Given the description of an element on the screen output the (x, y) to click on. 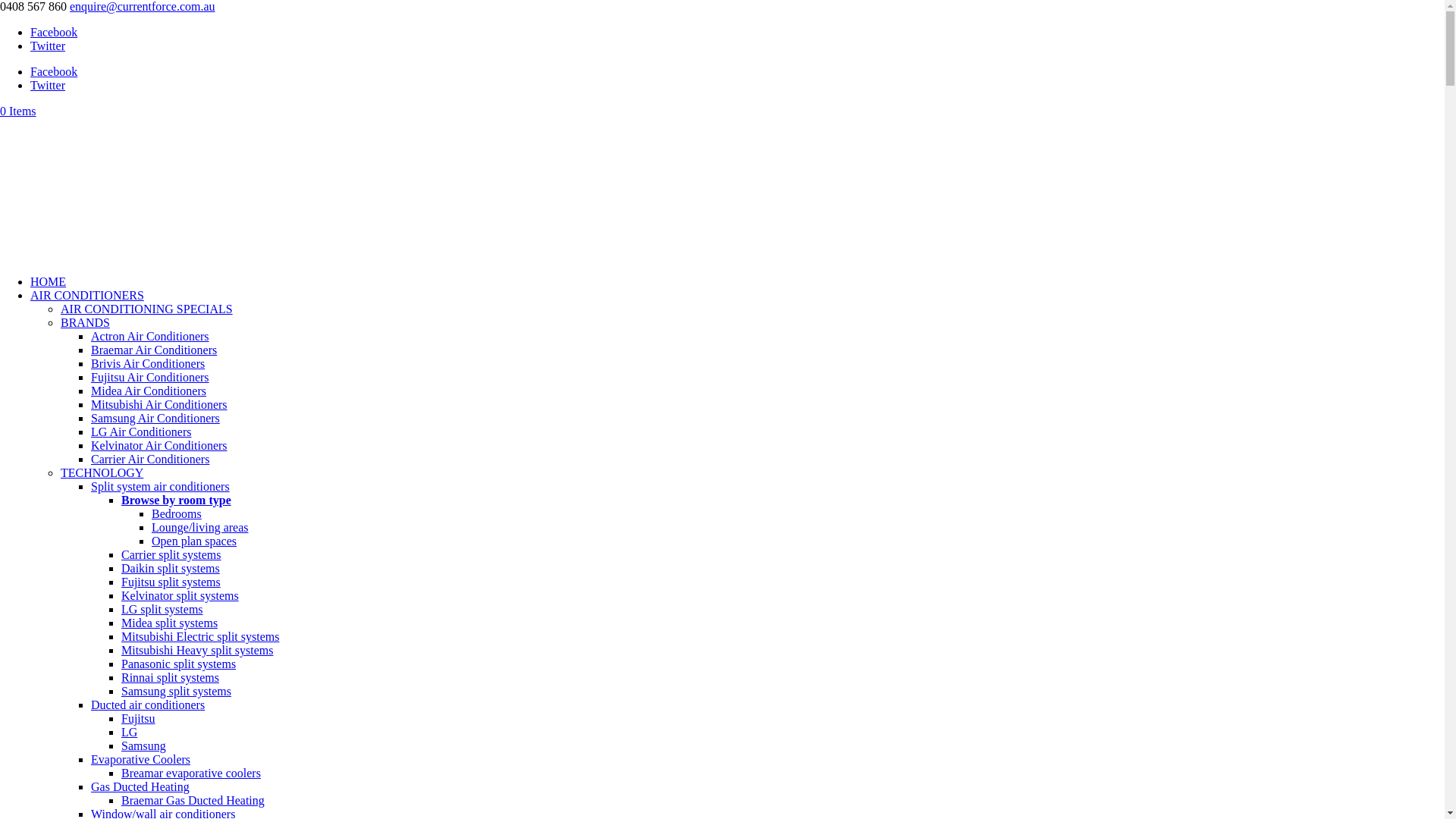
Browse by room type Element type: text (176, 499)
LG Air Conditioners Element type: text (141, 431)
Twitter Element type: text (47, 45)
Braemar Gas Ducted Heating Element type: text (192, 799)
Braemar Air Conditioners Element type: text (153, 349)
Samsung Element type: text (143, 745)
Bedrooms Element type: text (176, 513)
HOME Element type: text (47, 281)
Brivis Air Conditioners Element type: text (147, 363)
Gas Ducted Heating Element type: text (140, 786)
Split system air conditioners Element type: text (160, 486)
Facebook Element type: text (53, 71)
Fujitsu split systems Element type: text (170, 581)
Evaporative Coolers Element type: text (140, 759)
Carrier split systems Element type: text (171, 554)
AIR CONDITIONERS Element type: text (87, 294)
Panasonic split systems Element type: text (178, 663)
Kelvinator Air Conditioners Element type: text (159, 445)
Lounge/living areas Element type: text (199, 526)
Facebook Element type: text (53, 31)
enquire@currentforce.com.au Element type: text (142, 6)
BRANDS Element type: text (84, 322)
LG Element type: text (129, 731)
Mitsubishi Heavy split systems Element type: text (197, 649)
Rinnai split systems Element type: text (170, 677)
Kelvinator split systems Element type: text (179, 595)
Open plan spaces Element type: text (193, 540)
Fujitsu Air Conditioners Element type: text (150, 376)
Samsung Air Conditioners Element type: text (155, 417)
LG split systems Element type: text (162, 608)
Actron Air Conditioners Element type: text (150, 335)
TECHNOLOGY Element type: text (101, 472)
Midea Air Conditioners Element type: text (148, 390)
Daikin split systems Element type: text (170, 567)
Breamar evaporative coolers Element type: text (190, 772)
Fujitsu Element type: text (137, 718)
Ducted air conditioners Element type: text (147, 704)
Twitter Element type: text (47, 84)
Samsung split systems Element type: text (176, 690)
Midea split systems Element type: text (169, 622)
AIR CONDITIONING SPECIALS Element type: text (146, 308)
Mitsubishi Air Conditioners Element type: text (159, 404)
0 Items Element type: text (18, 110)
Mitsubishi Electric split systems Element type: text (200, 636)
Carrier Air Conditioners Element type: text (150, 458)
